Given the description of an element on the screen output the (x, y) to click on. 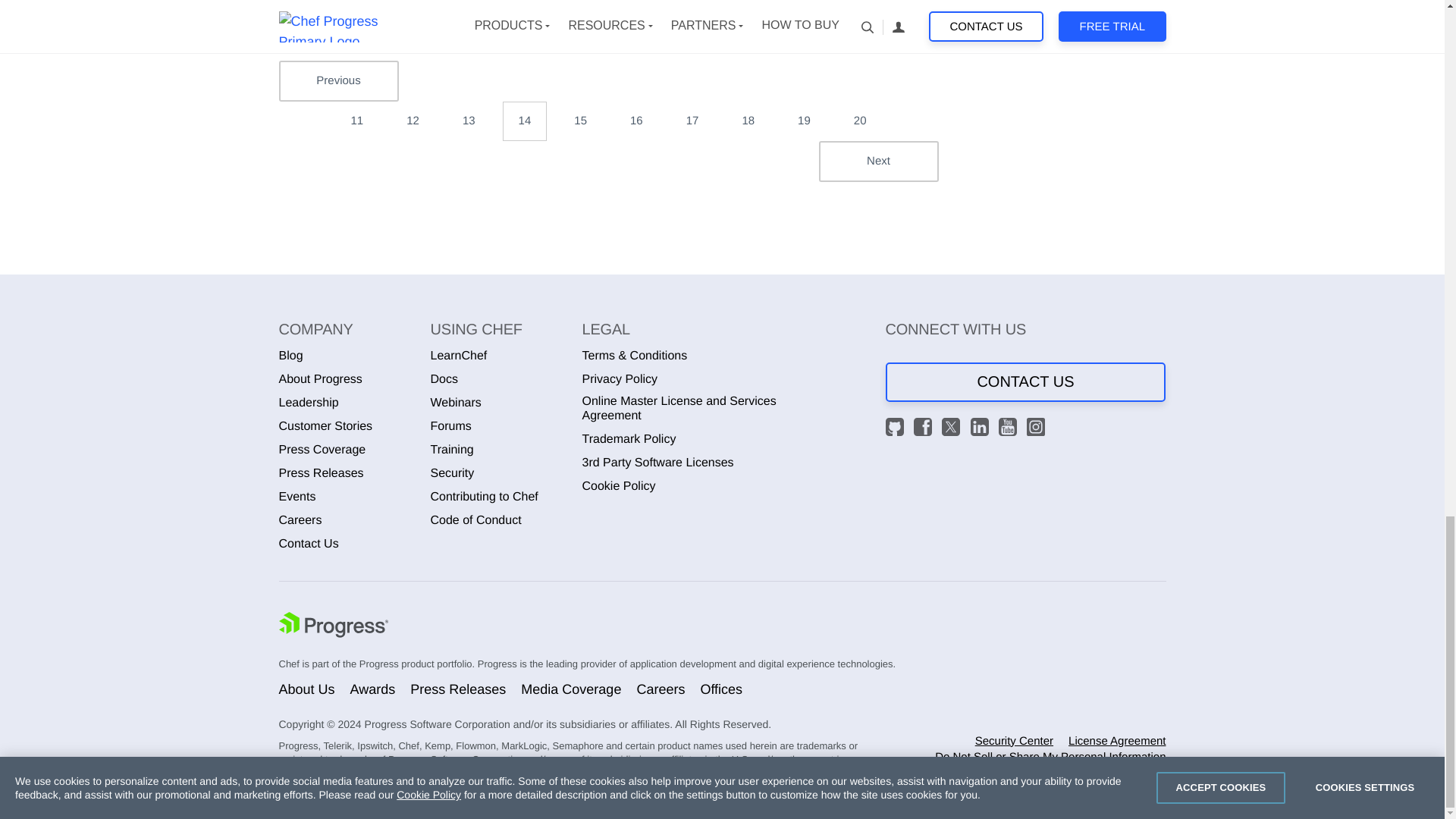
Progress-logo (333, 626)
